Given the description of an element on the screen output the (x, y) to click on. 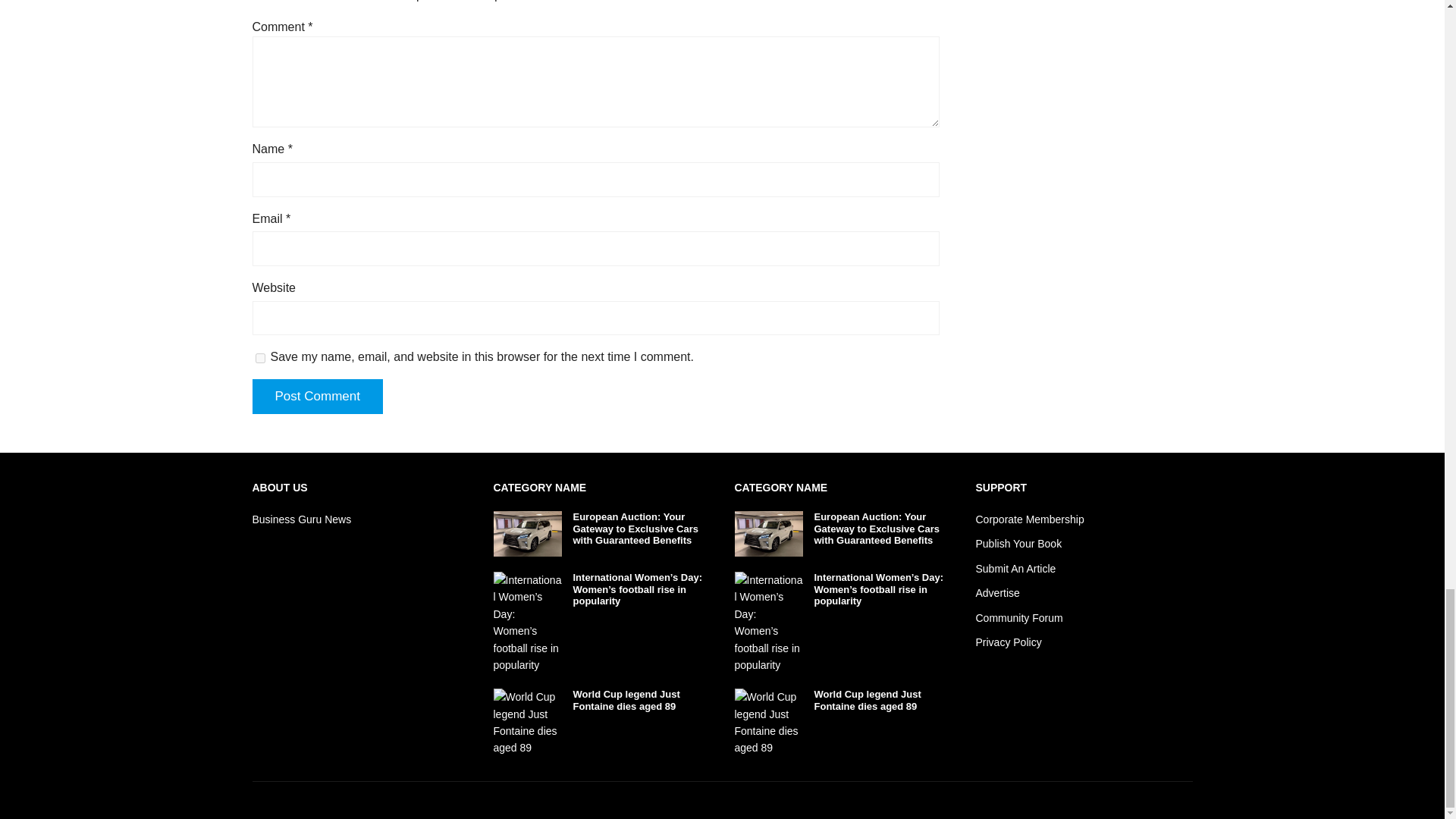
Post Comment (316, 396)
Post Comment (316, 396)
